Given the description of an element on the screen output the (x, y) to click on. 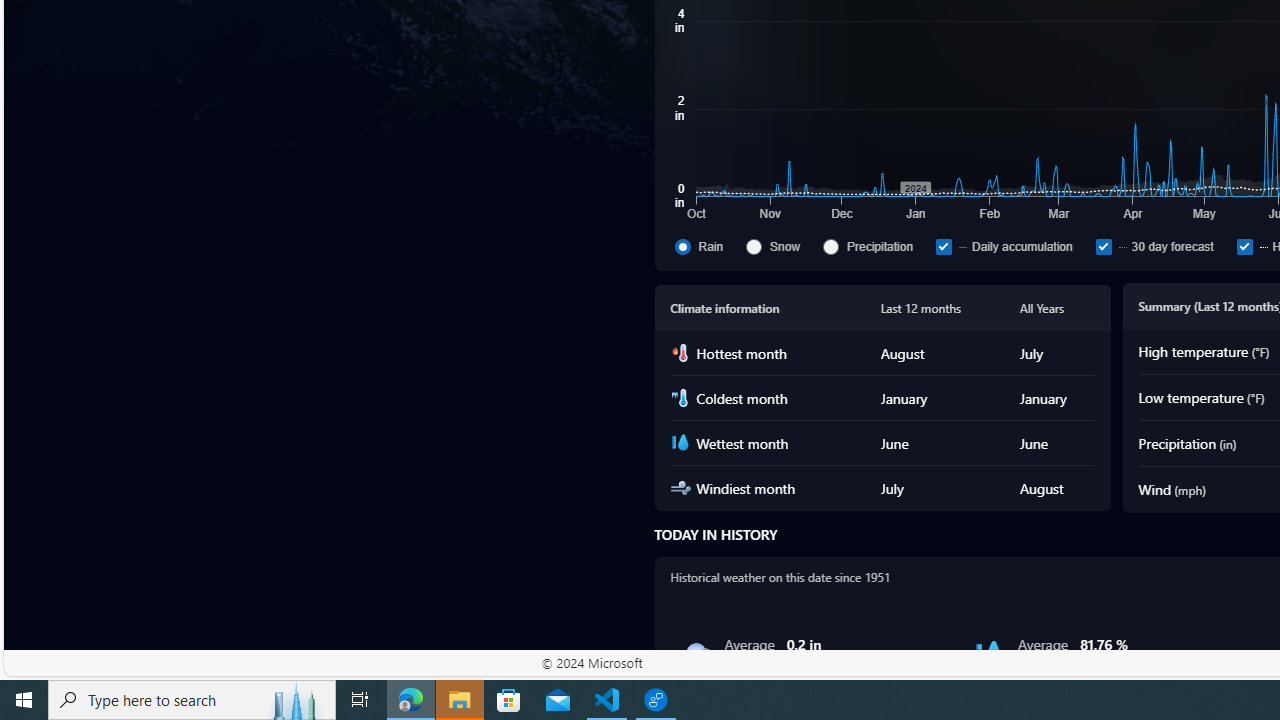
Daily accumulation (943, 246)
Rain (695, 654)
Precipitation (875, 246)
Historical daily accumulation (1244, 246)
Humidity (989, 654)
30 day forecast (1103, 246)
Daily accumulation (1011, 246)
Snow (781, 246)
Precipitation (831, 246)
Rain (682, 246)
30 day forecast (1161, 246)
Rain (706, 246)
Snow (754, 246)
